Given the description of an element on the screen output the (x, y) to click on. 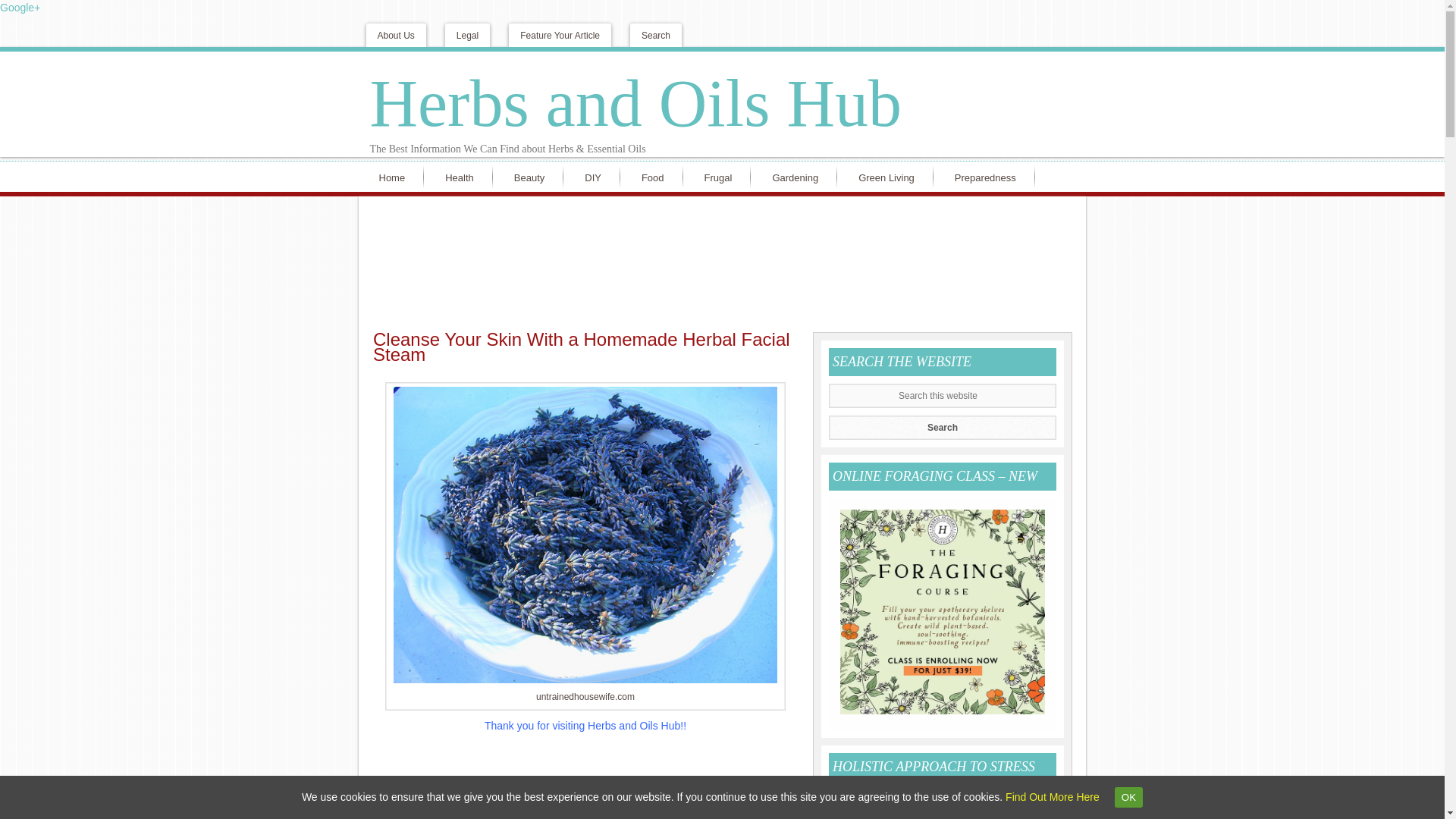
Home (395, 176)
Advertisement (584, 780)
Legal (467, 34)
DIY (596, 176)
About Us (395, 34)
Food (656, 176)
Green Living (889, 176)
Search (655, 34)
Search (942, 427)
Health (462, 176)
